Given the description of an element on the screen output the (x, y) to click on. 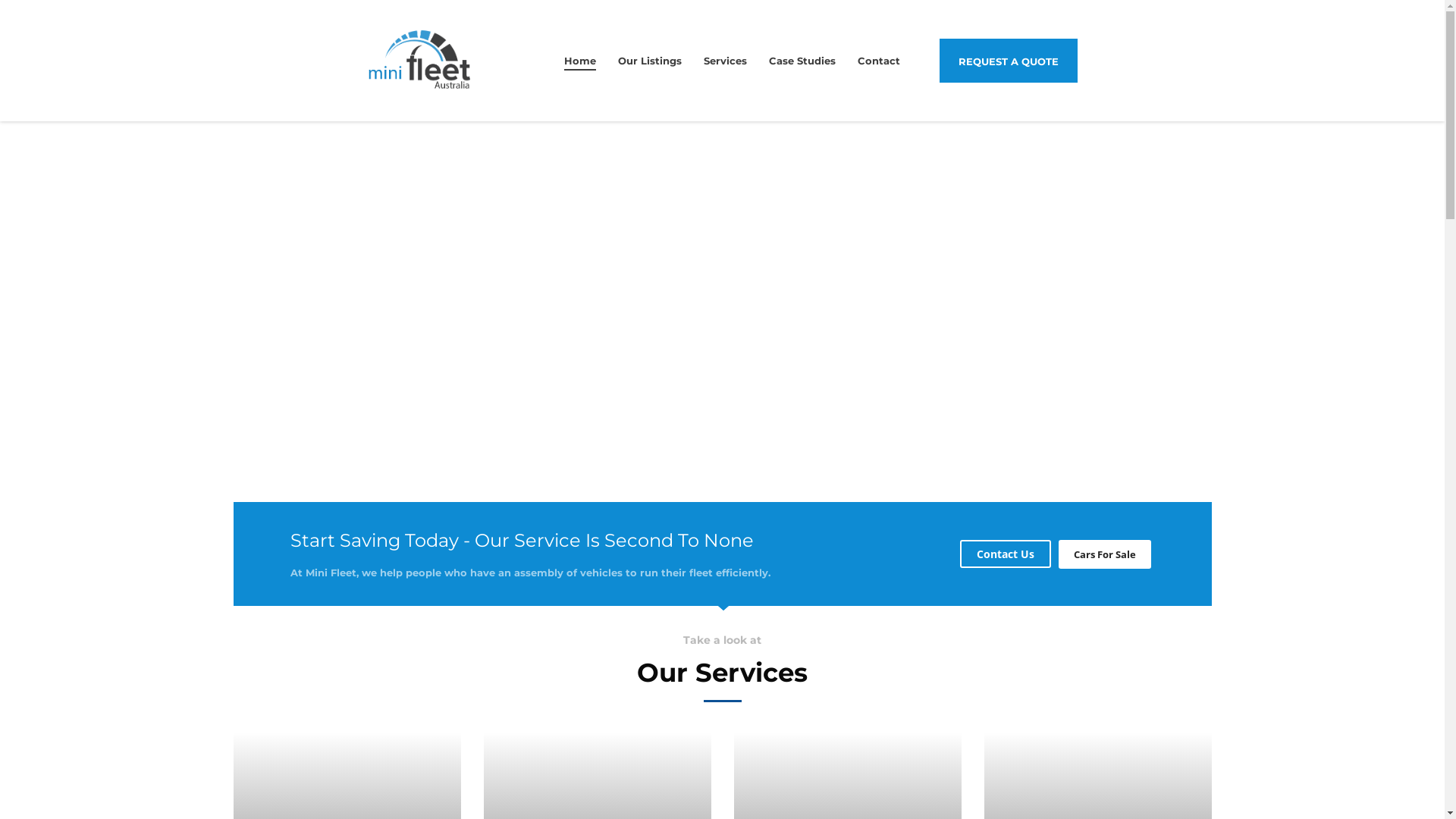
Cars For Sale Element type: text (1104, 553)
Our Listings Element type: text (649, 60)
REQUEST A QUOTE Element type: text (1008, 60)
Case Studies Element type: text (801, 60)
Contact Element type: text (878, 60)
Home Element type: text (580, 60)
Services Element type: text (725, 60)
Contact Us Element type: text (1005, 553)
